Given the description of an element on the screen output the (x, y) to click on. 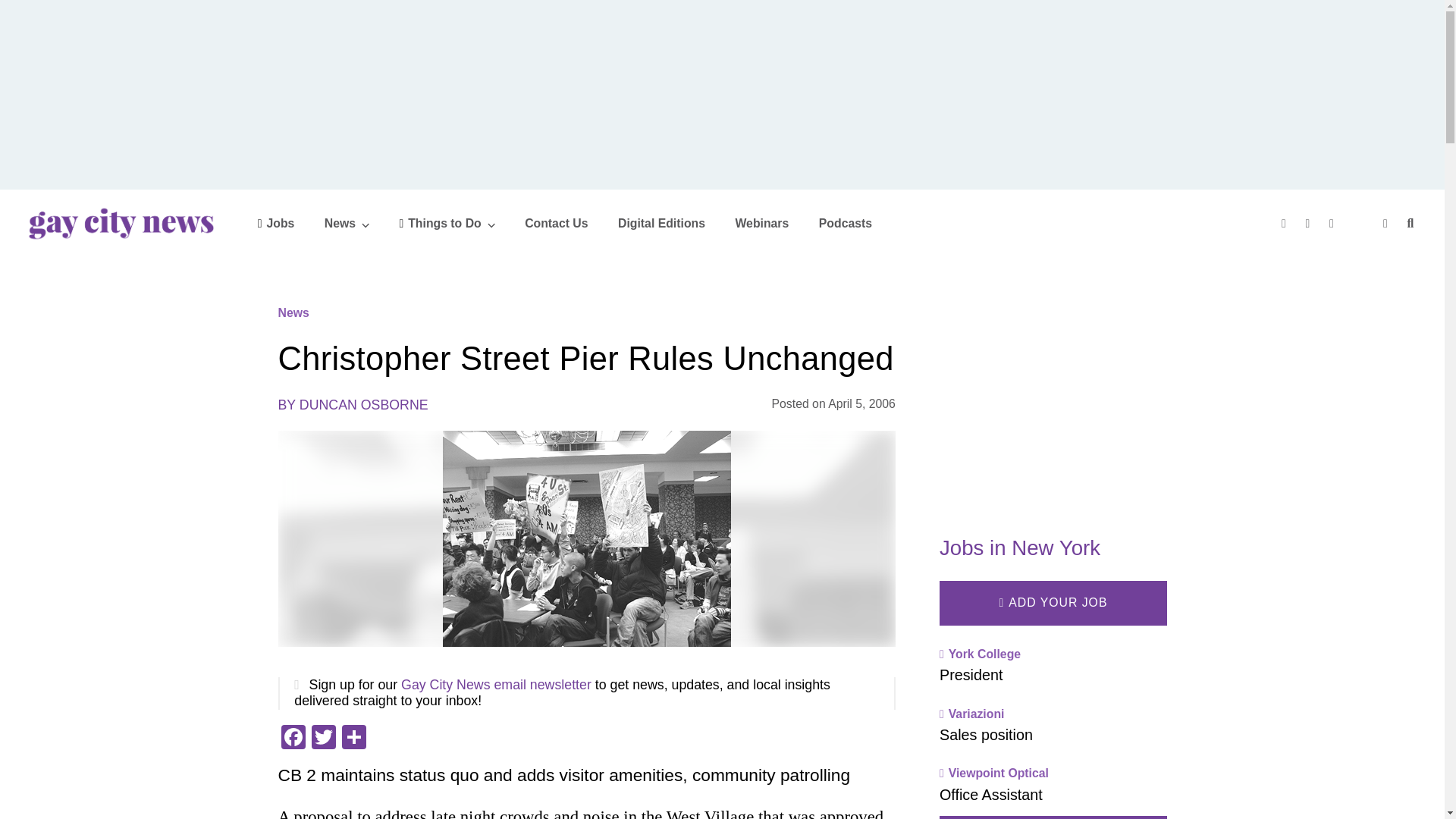
News (346, 223)
Things to Do (446, 223)
Contact Us (556, 223)
Twitter (322, 738)
Jobs (276, 223)
Digital Editions (660, 223)
Facebook (292, 738)
Podcasts (845, 223)
Webinars (762, 223)
